Given the description of an element on the screen output the (x, y) to click on. 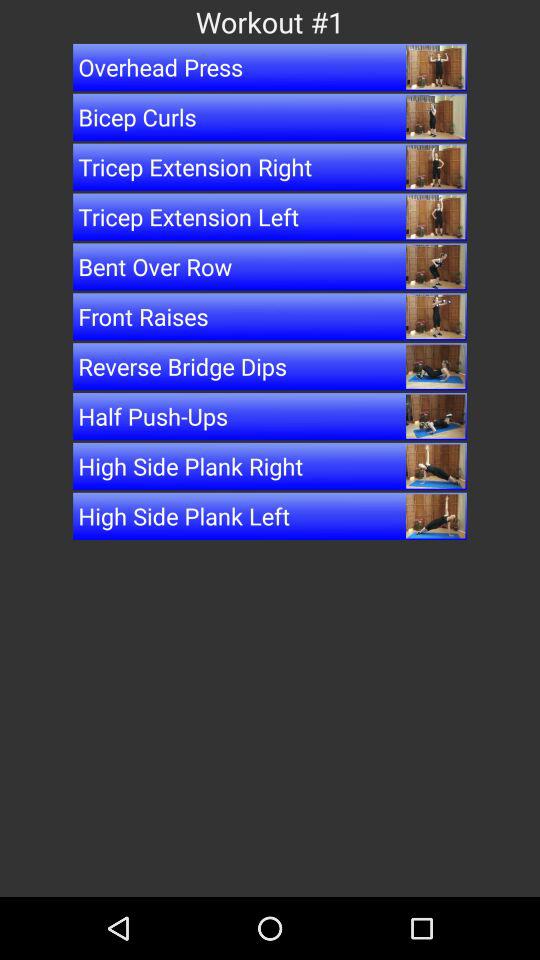
tap the overhead press item (269, 67)
